Given the description of an element on the screen output the (x, y) to click on. 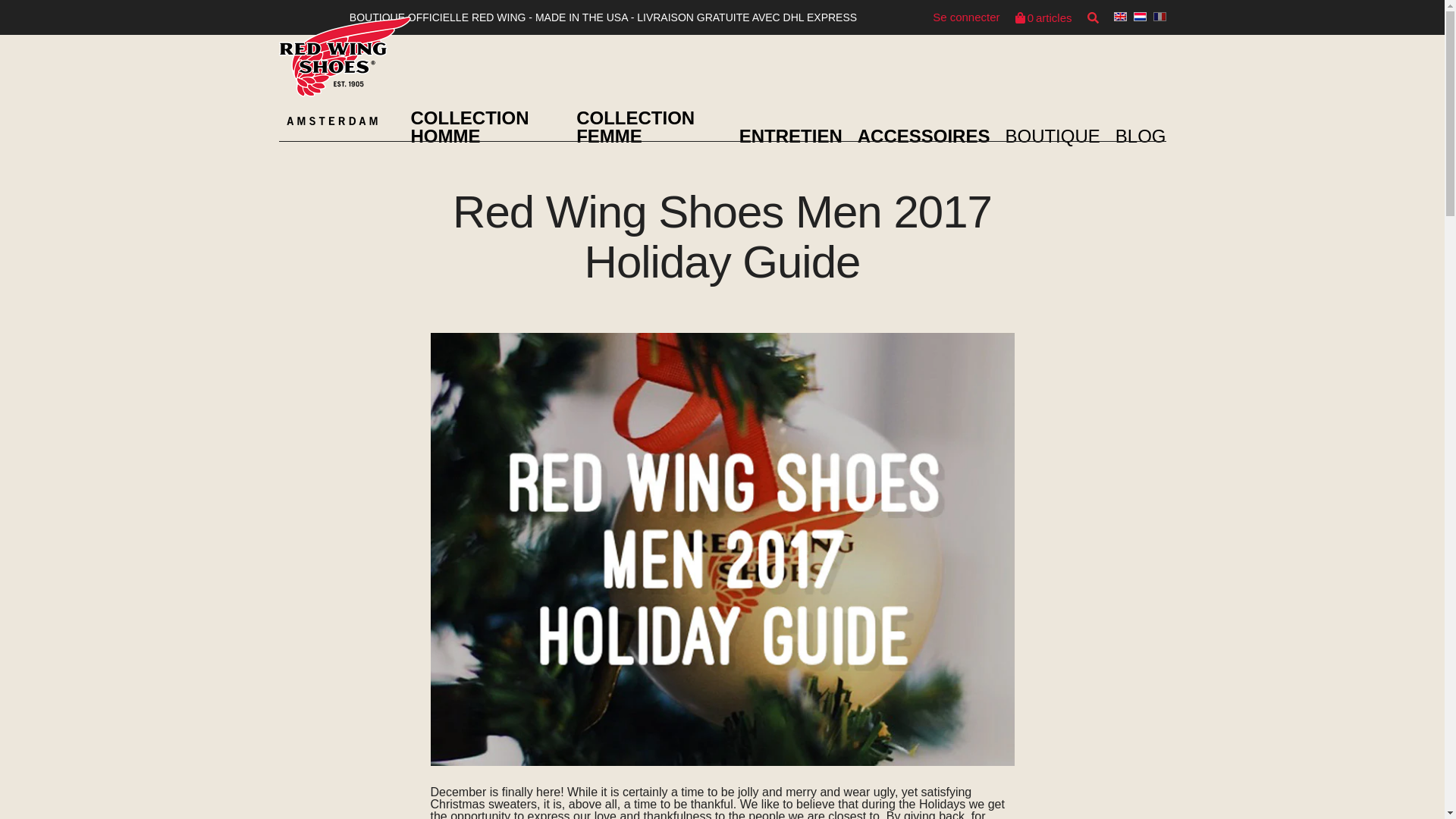
BLOG (1140, 136)
ENTRETIEN (791, 136)
ACCESSOIRES (923, 136)
BOUTIQUE (1042, 17)
Se connecter (1051, 136)
COLLECTION FEMME (965, 16)
COLLECTION HOMME (635, 126)
